Given the description of an element on the screen output the (x, y) to click on. 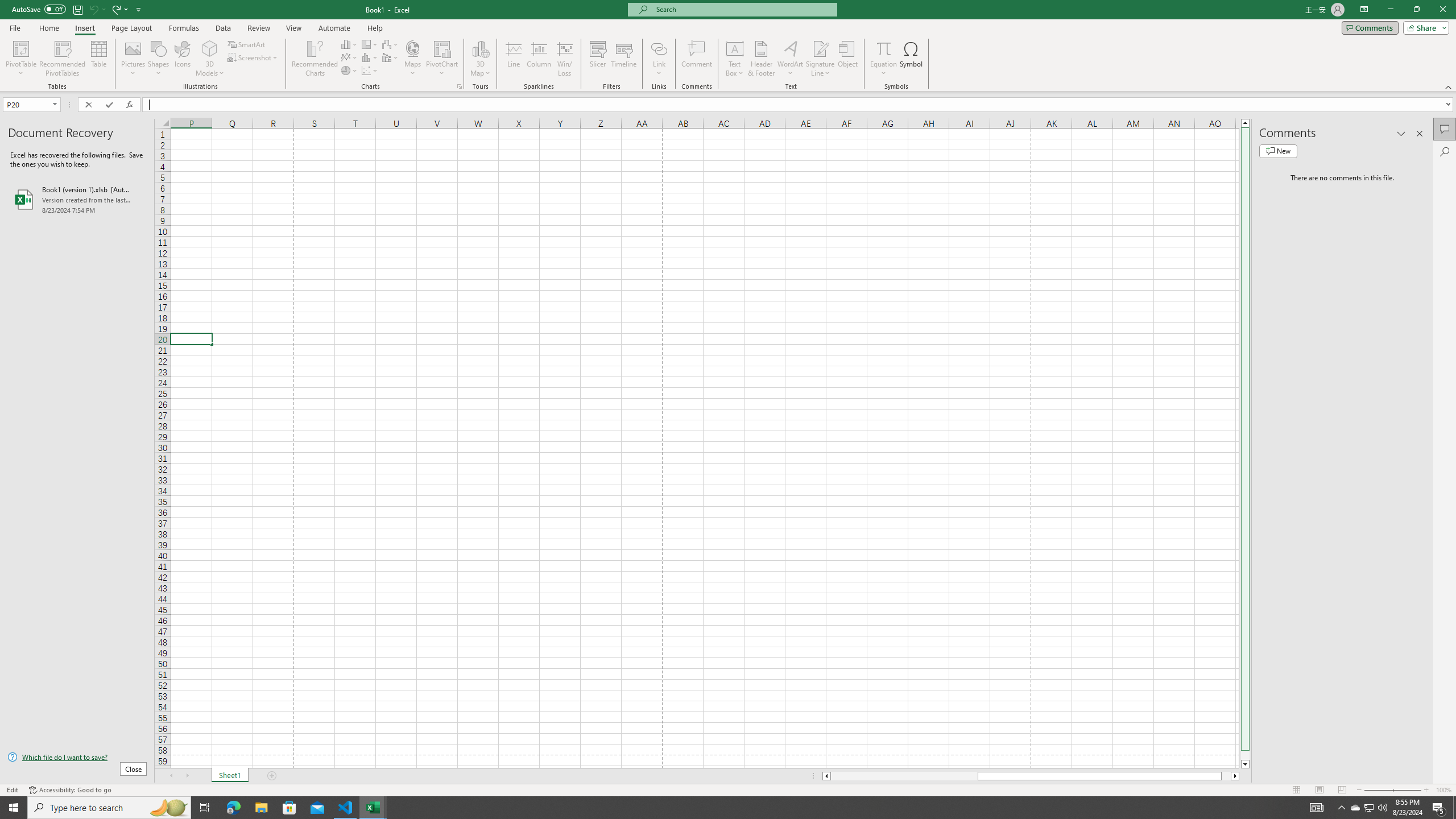
Pictures (133, 58)
Text Box (734, 58)
Help (374, 28)
Minimize (1390, 9)
Maps (412, 58)
WordArt (790, 58)
Task Pane Options (1400, 133)
Normal (1296, 790)
Zoom In (1426, 790)
Equation (883, 58)
Scroll Right (187, 775)
Undo (92, 9)
Win/Loss (564, 58)
New comment (1278, 151)
Insert Statistic Chart (369, 56)
